Given the description of an element on the screen output the (x, y) to click on. 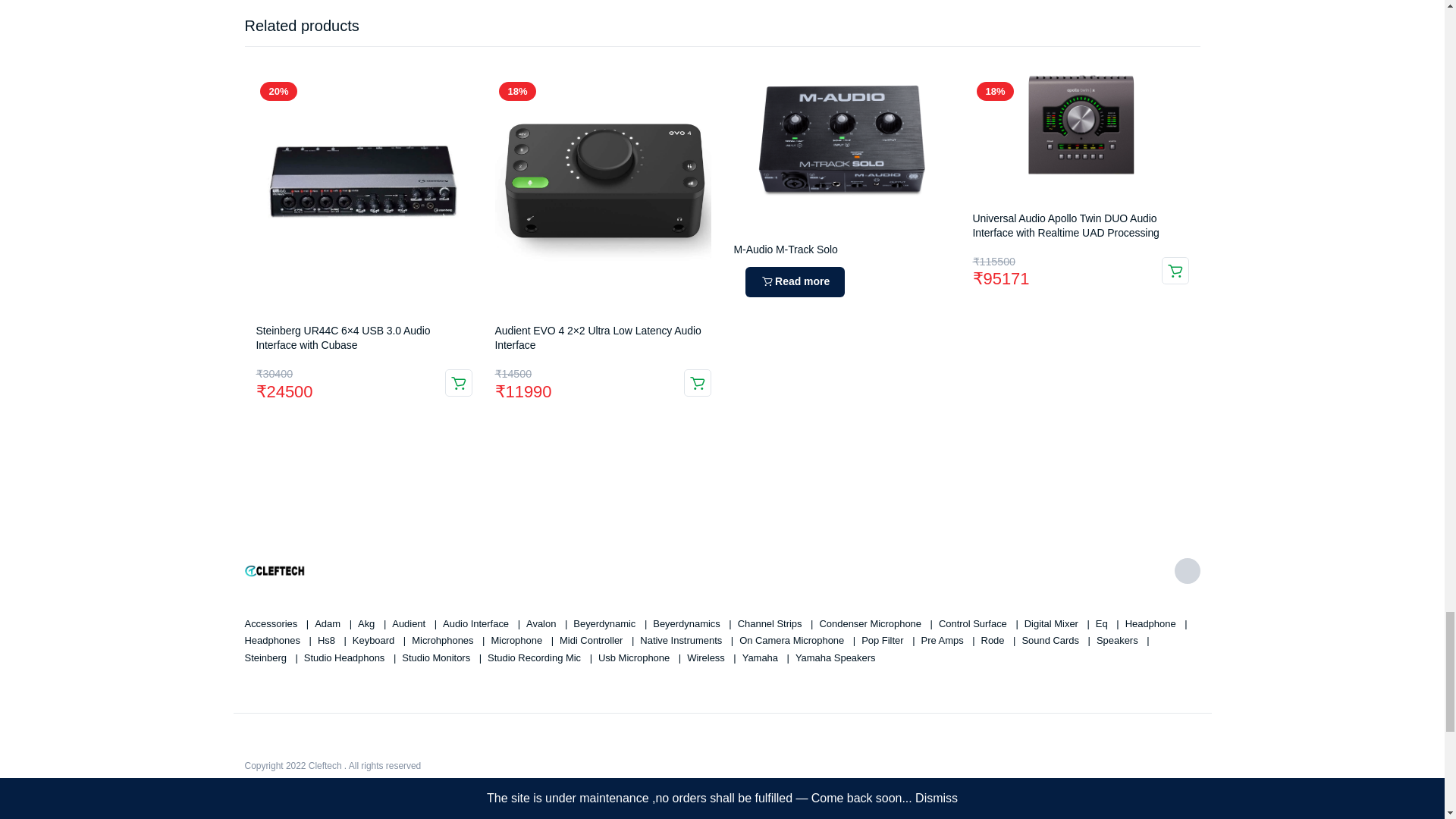
cleftech (274, 571)
